Given the description of an element on the screen output the (x, y) to click on. 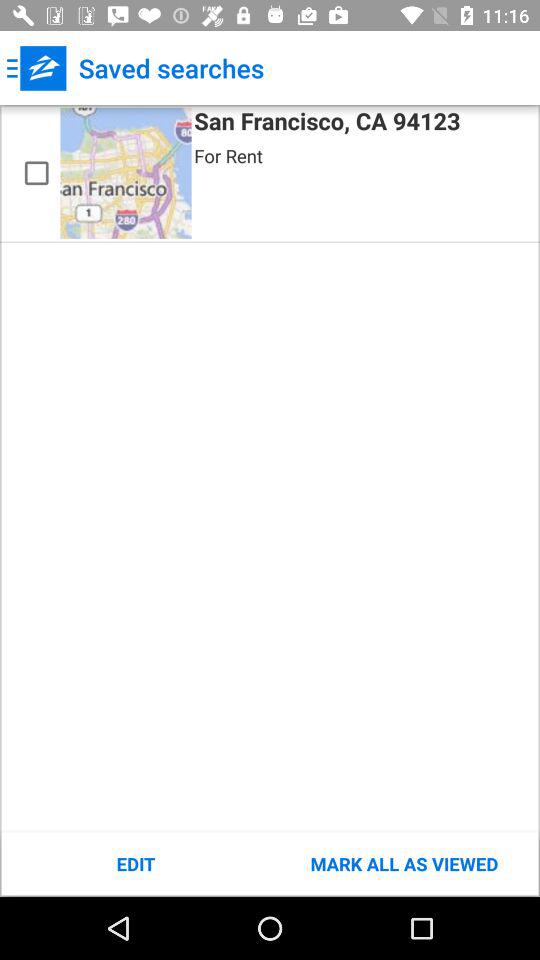
open the app below the saved searches (327, 124)
